Given the description of an element on the screen output the (x, y) to click on. 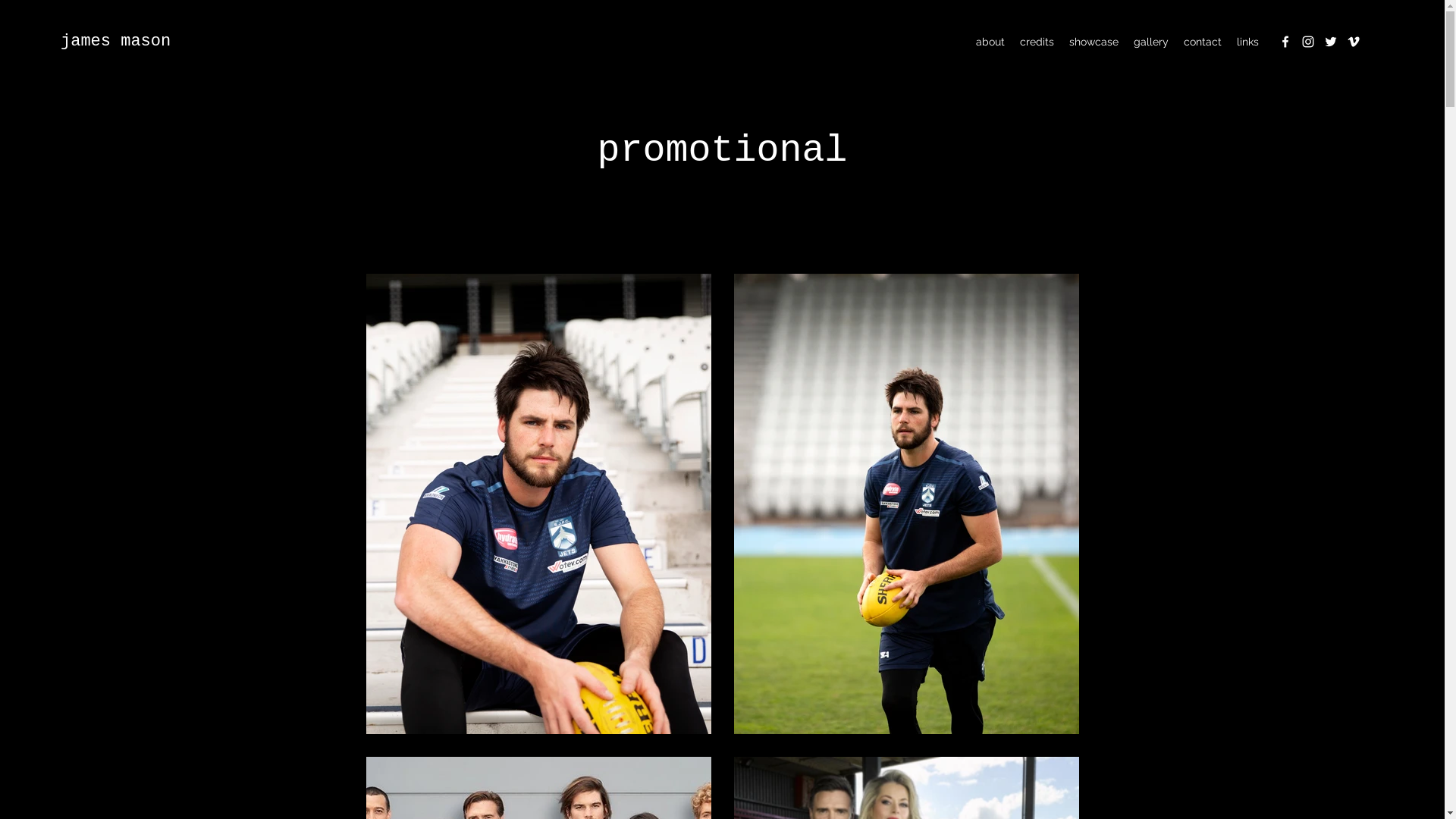
credits Element type: text (1036, 41)
showcase Element type: text (1093, 41)
gallery Element type: text (1151, 41)
about Element type: text (990, 41)
contact Element type: text (1202, 41)
links Element type: text (1247, 41)
